Given the description of an element on the screen output the (x, y) to click on. 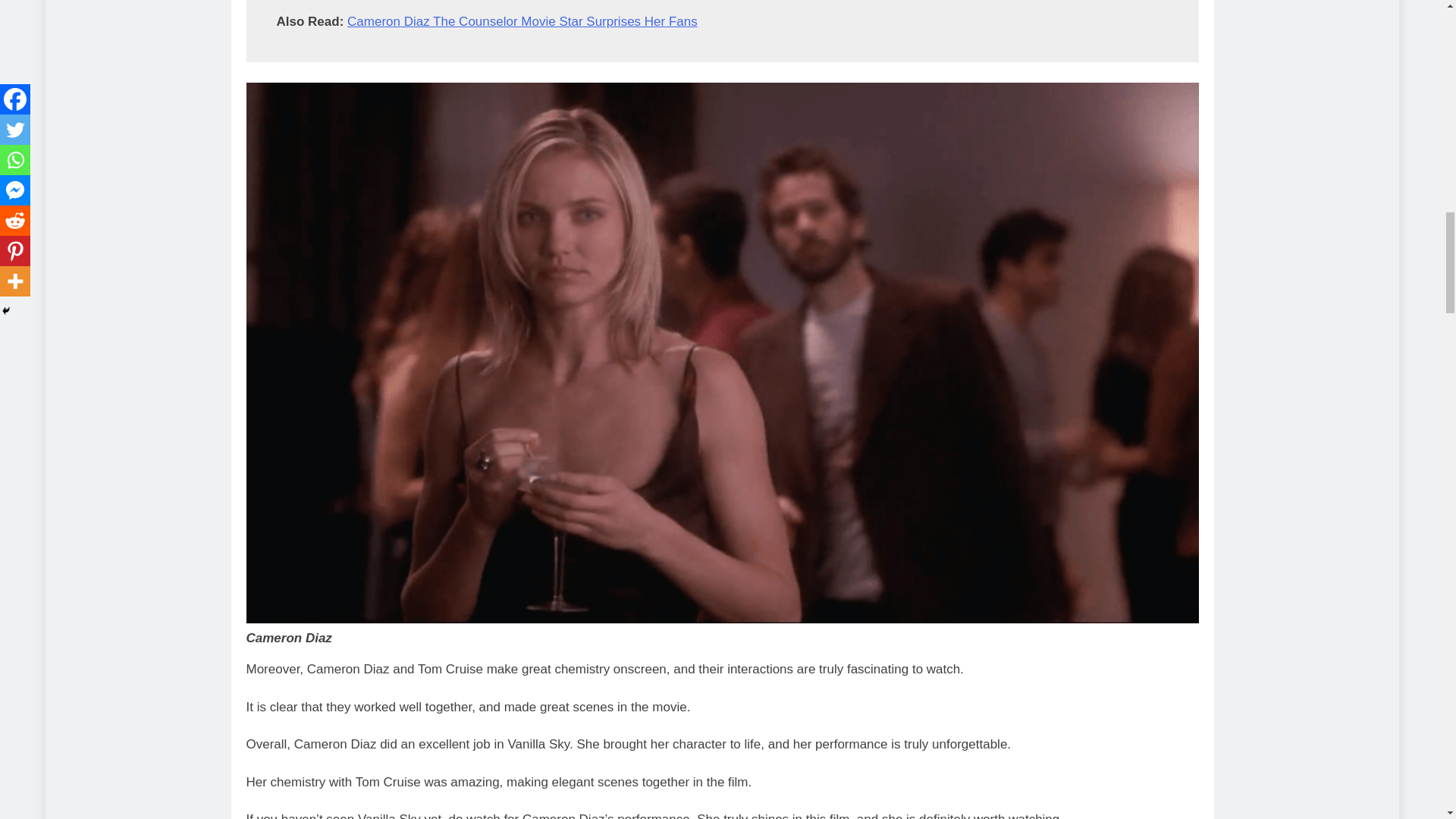
Cameron Diaz The Counselor Movie Star Surprises Her Fans (522, 21)
